Given the description of an element on the screen output the (x, y) to click on. 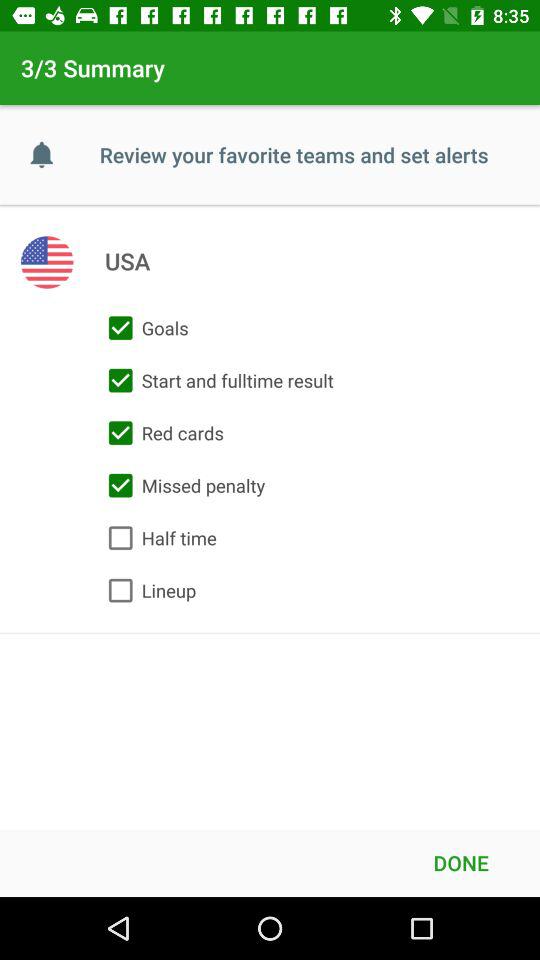
turn on the item below red cards (182, 485)
